Given the description of an element on the screen output the (x, y) to click on. 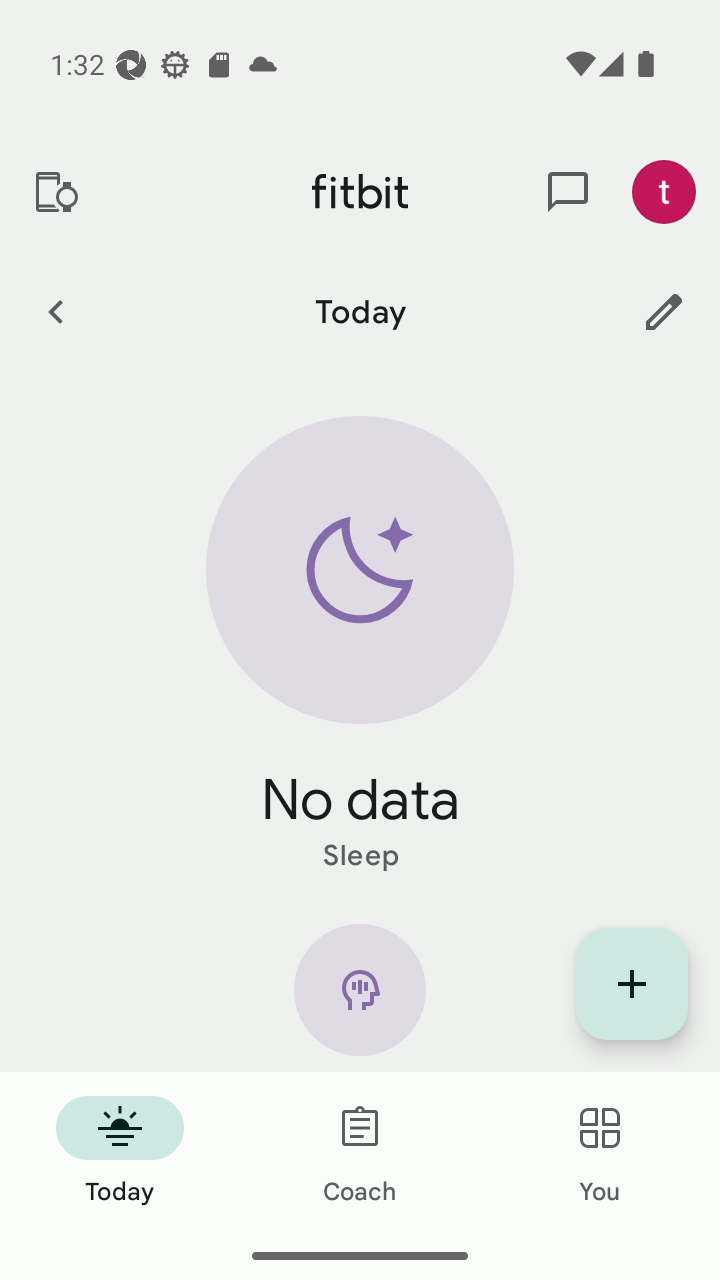
Devices and apps (55, 191)
messages and notifications (567, 191)
Previous Day (55, 311)
Customize (664, 311)
Sleep static hero arc No data Sleep (359, 645)
Mindfulness icon (360, 998)
Display list of quick log entries (632, 983)
Coach (359, 1151)
You (600, 1151)
